Given the description of an element on the screen output the (x, y) to click on. 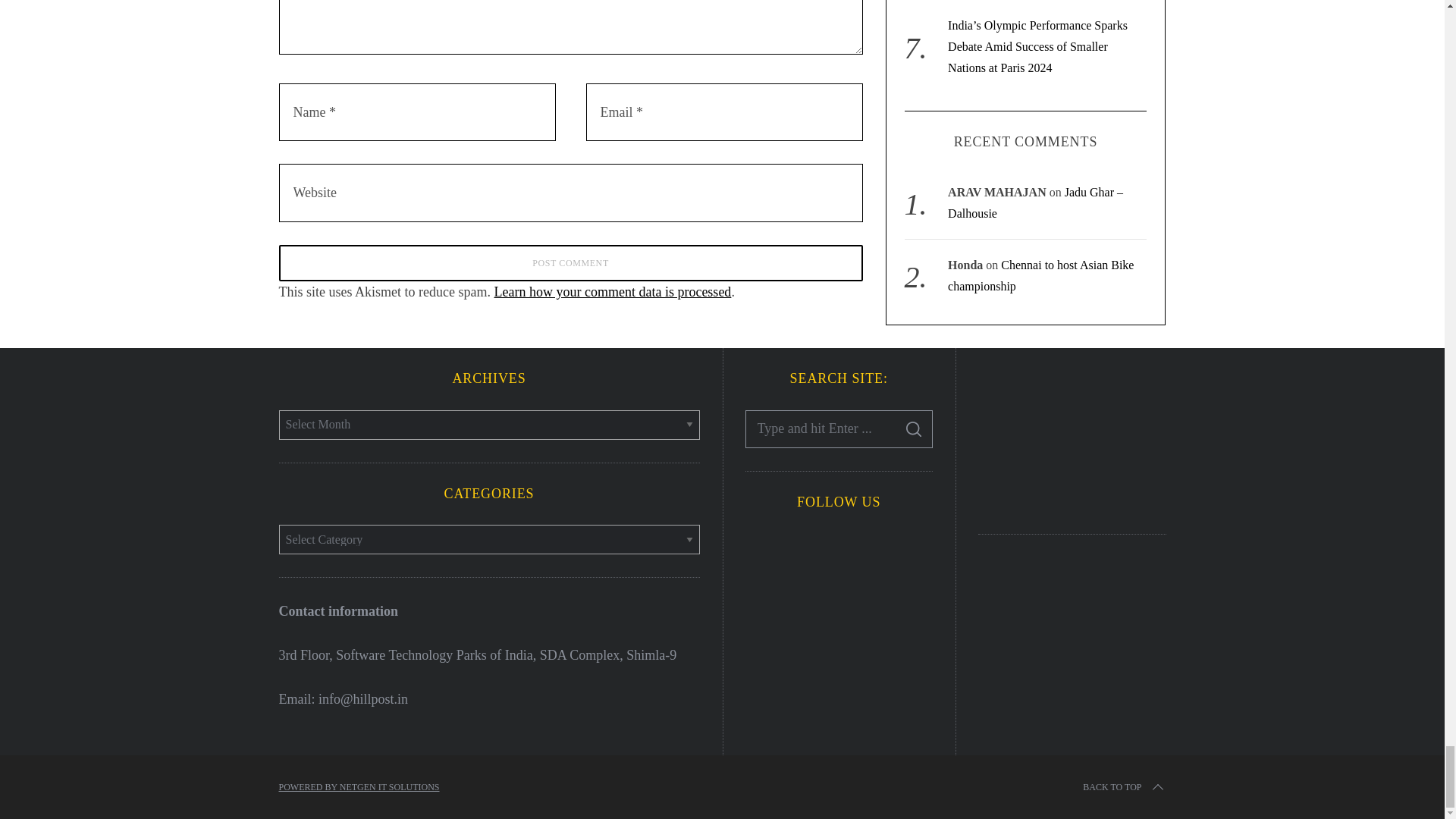
SEARCH (914, 428)
PepupHome Best Home improvement blog 2020 (1072, 438)
Post Comment (571, 262)
Learn how your comment data is processed (611, 291)
Post Comment (571, 262)
